Given the description of an element on the screen output the (x, y) to click on. 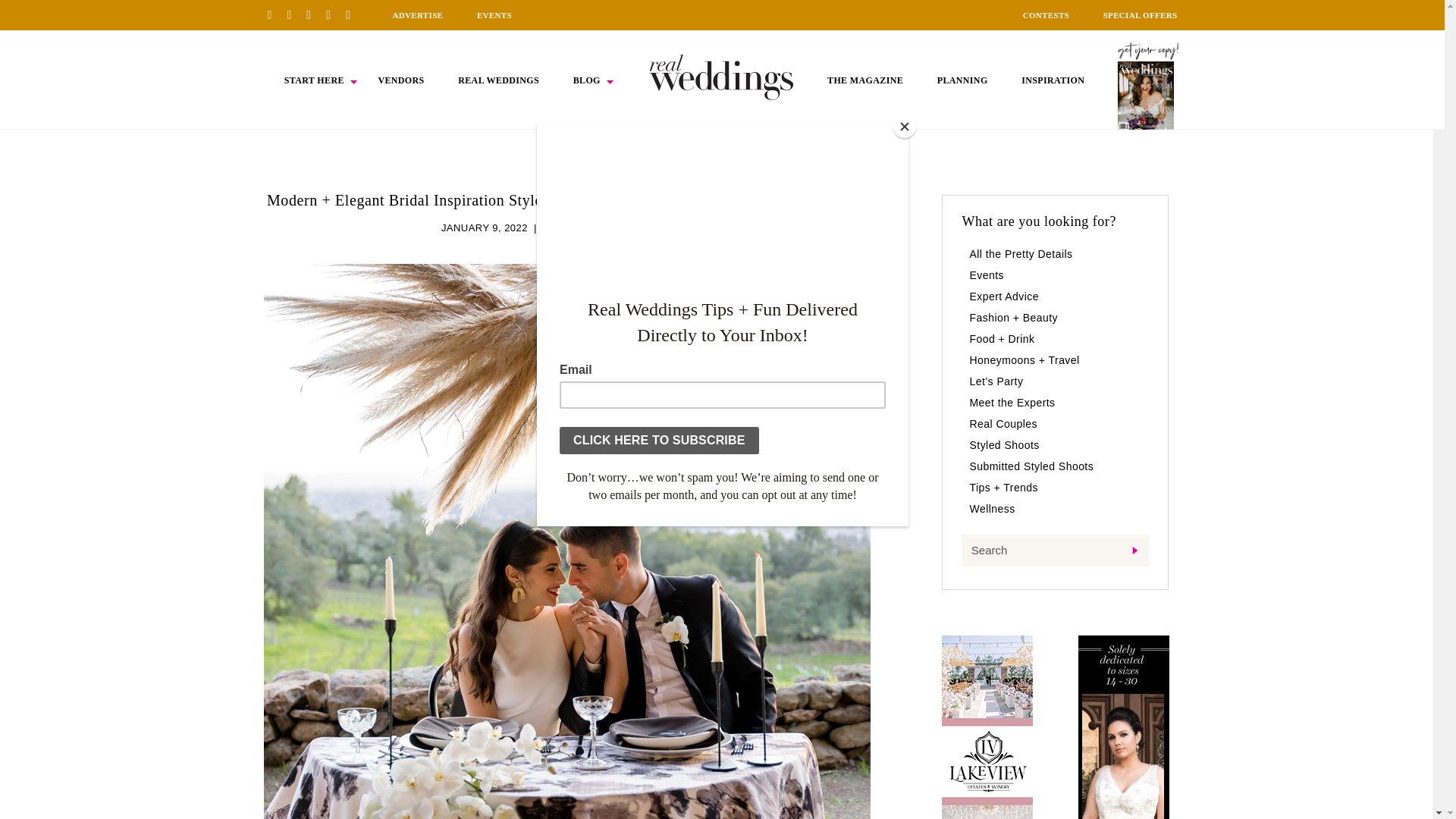
PLANNING (962, 80)
Search (1054, 550)
ADVERTISE (416, 14)
CONTESTS (1045, 14)
BLOG (586, 80)
HOME (721, 76)
Pinterest (274, 14)
SUBMITTED STYLED SHOOTS (618, 227)
INSPIRATION (1053, 80)
Search (1054, 550)
Twitter (334, 14)
EVENTS (494, 14)
THE MAGAZINE (864, 80)
REAL WEDDINGS (498, 80)
Facebook (294, 14)
